Given the description of an element on the screen output the (x, y) to click on. 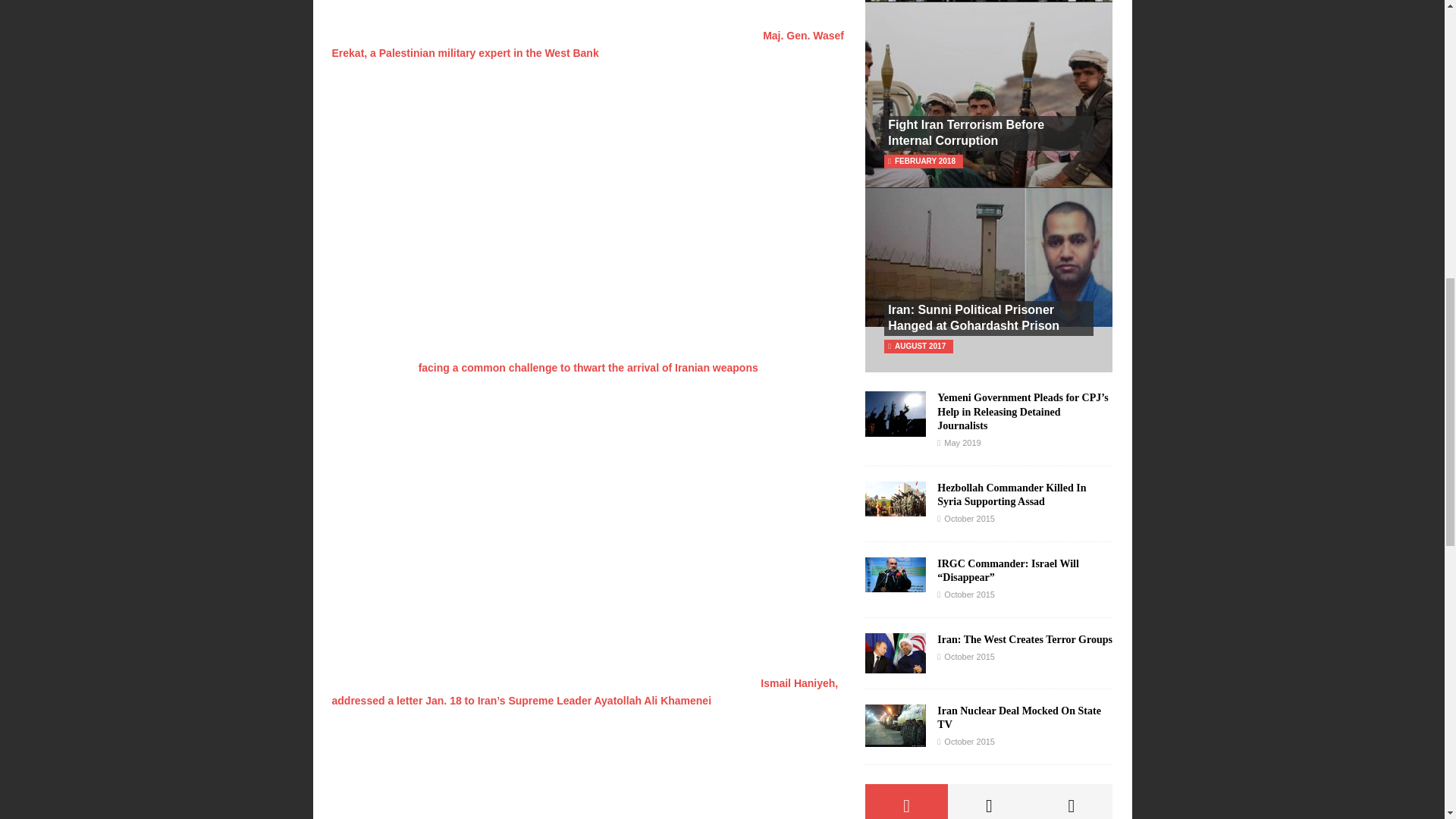
Fight Iran Terrorism Before Internal Corruption (965, 132)
